Given the description of an element on the screen output the (x, y) to click on. 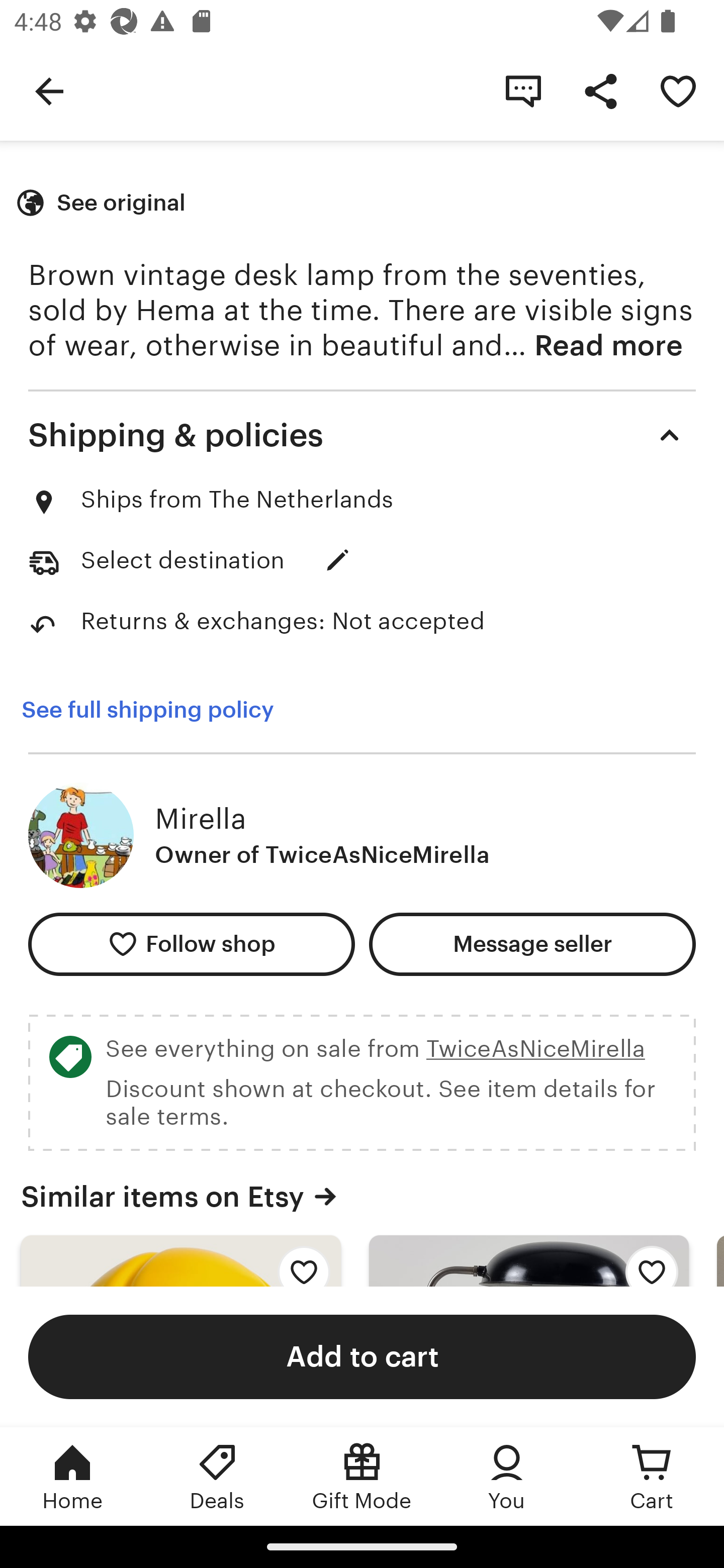
Navigate up (49, 90)
Contact shop (523, 90)
Share (600, 90)
See original (103, 202)
Shipping & policies (362, 434)
Update (337, 559)
See full shipping policy (147, 709)
Follow shop Follow TwiceAsNiceMirella (191, 943)
Message seller (532, 943)
Similar items on Etsy  (362, 1196)
Add to cart (361, 1355)
Deals (216, 1475)
Gift Mode (361, 1475)
You (506, 1475)
Cart (651, 1475)
